Given the description of an element on the screen output the (x, y) to click on. 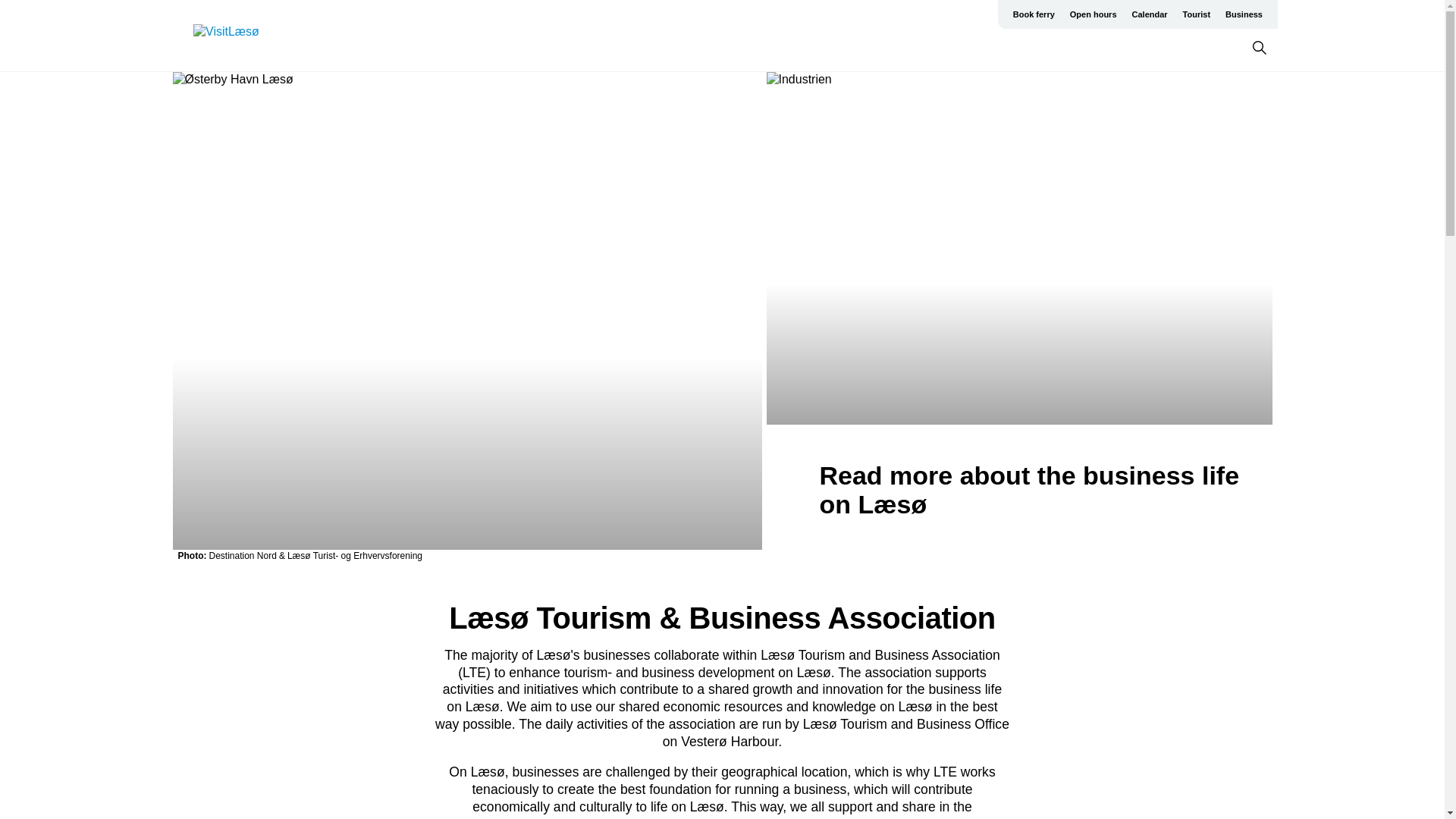
Calendar (1149, 14)
Go to homepage (253, 35)
Tourist (1195, 14)
Open hours (1093, 14)
Book ferry (1034, 14)
Business (1243, 14)
